Given the description of an element on the screen output the (x, y) to click on. 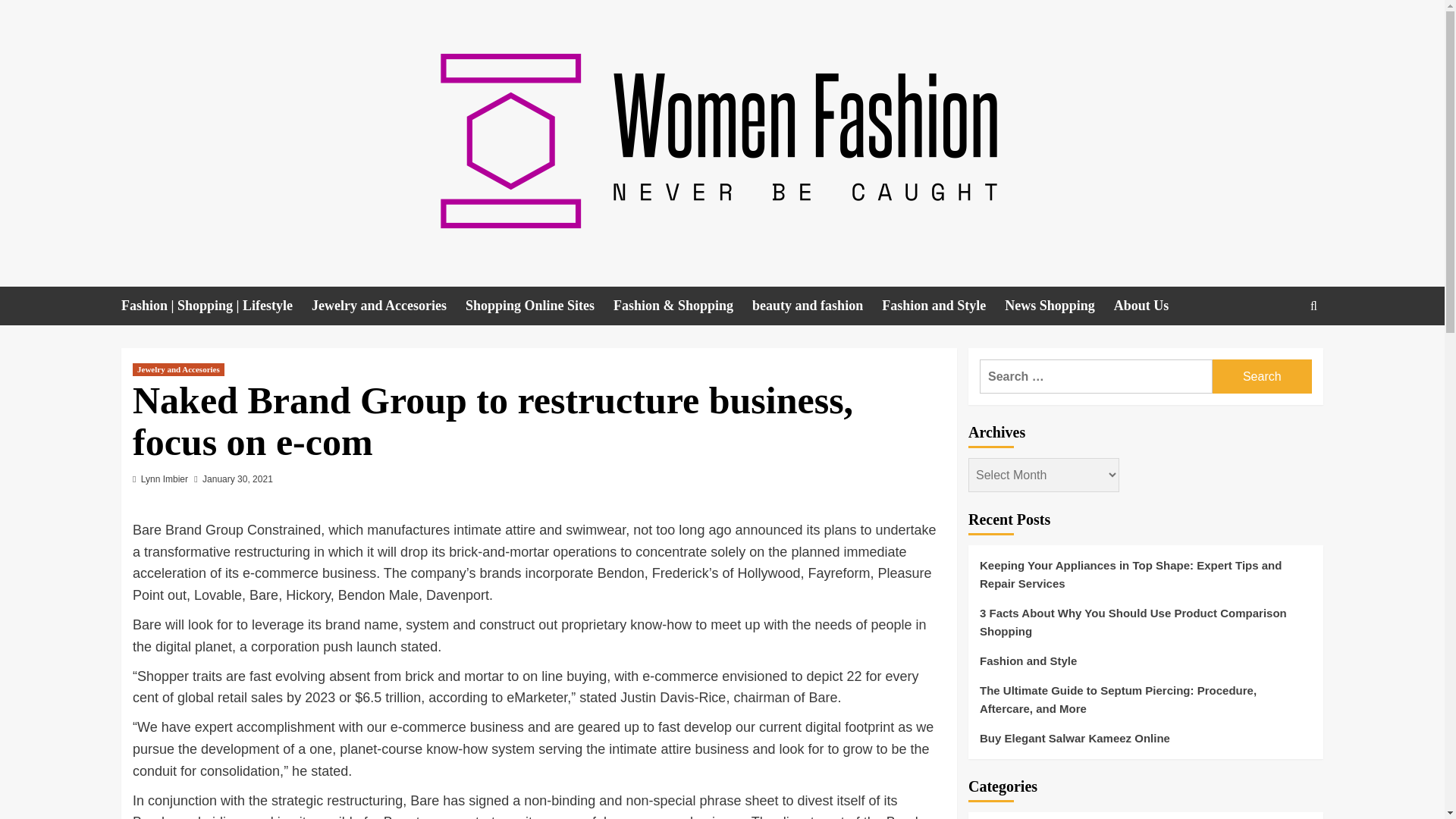
Shopping Online Sites (538, 305)
January 30, 2021 (237, 479)
beauty and fashion (817, 305)
Search (1278, 351)
Fashion and Style (943, 305)
Jewelry and Accesories (178, 369)
Lynn Imbier (164, 479)
Search (1261, 376)
Search (1261, 376)
Jewelry and Accesories (388, 305)
